Given the description of an element on the screen output the (x, y) to click on. 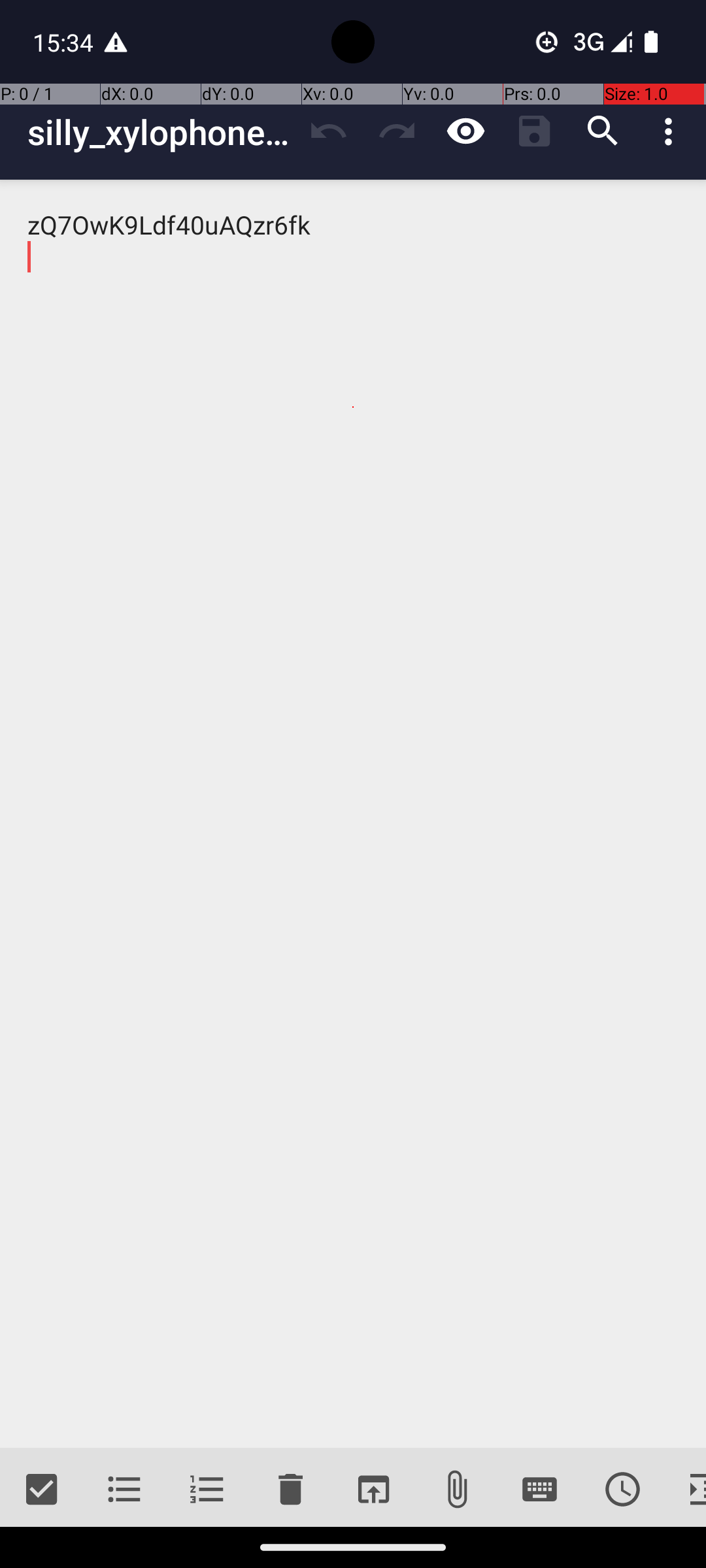
silly_xylophone_WGSm Element type: android.widget.TextView (160, 131)
zQ7OwK9Ldf40uAQzr6fk
 Element type: android.widget.EditText (353, 813)
Ordered list Element type: android.widget.ImageView (207, 1488)
Indent Element type: android.widget.ImageView (685, 1488)
